Given the description of an element on the screen output the (x, y) to click on. 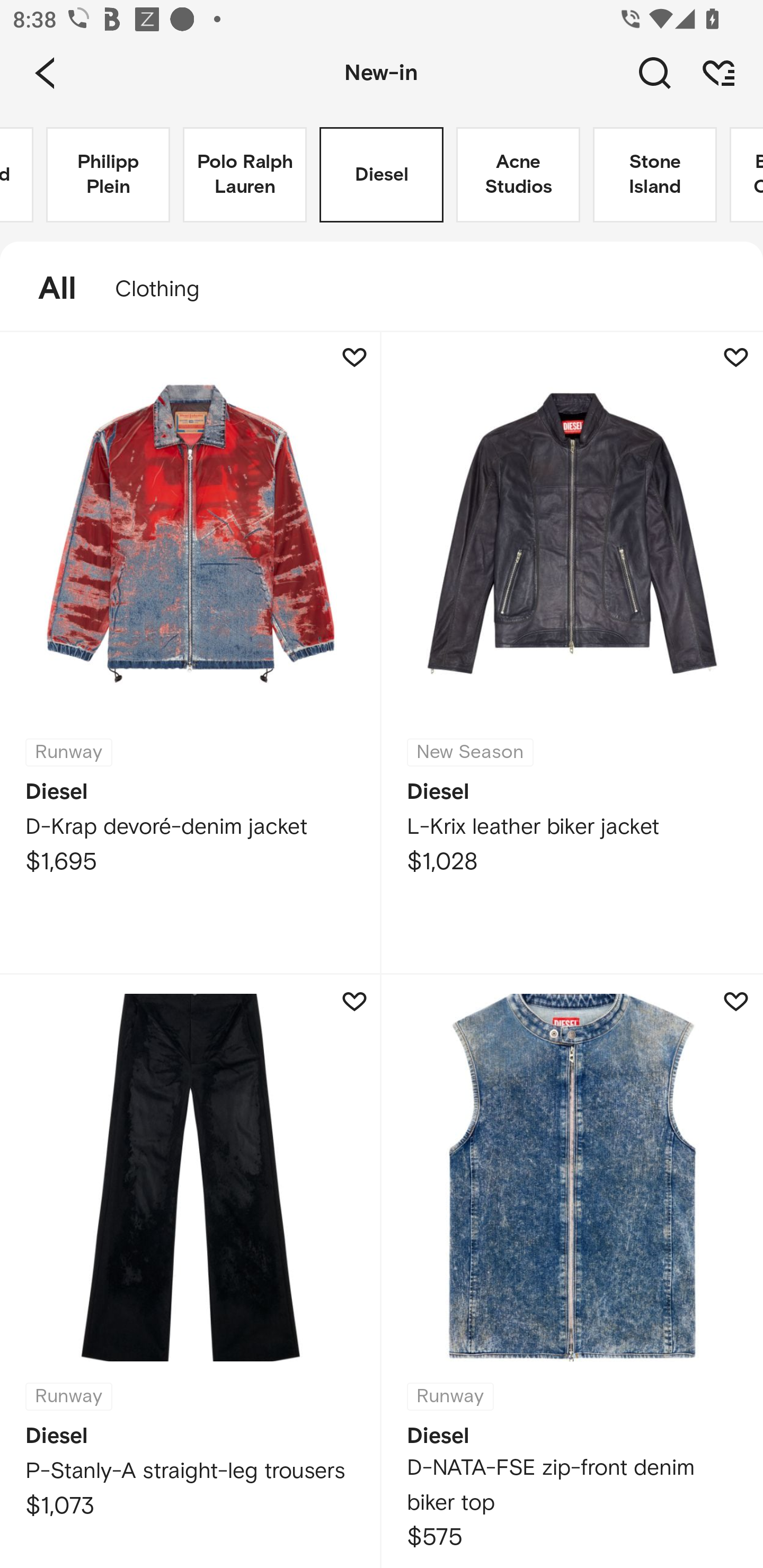
Philipp Plein (107, 174)
Polo Ralph Lauren (244, 174)
Diesel (381, 174)
Acne Studios (517, 174)
Stone Island (654, 174)
All (47, 288)
Clothing (166, 288)
Runway Diesel D-Krap devoré-denim jacket $1,695 (190, 652)
